Given the description of an element on the screen output the (x, y) to click on. 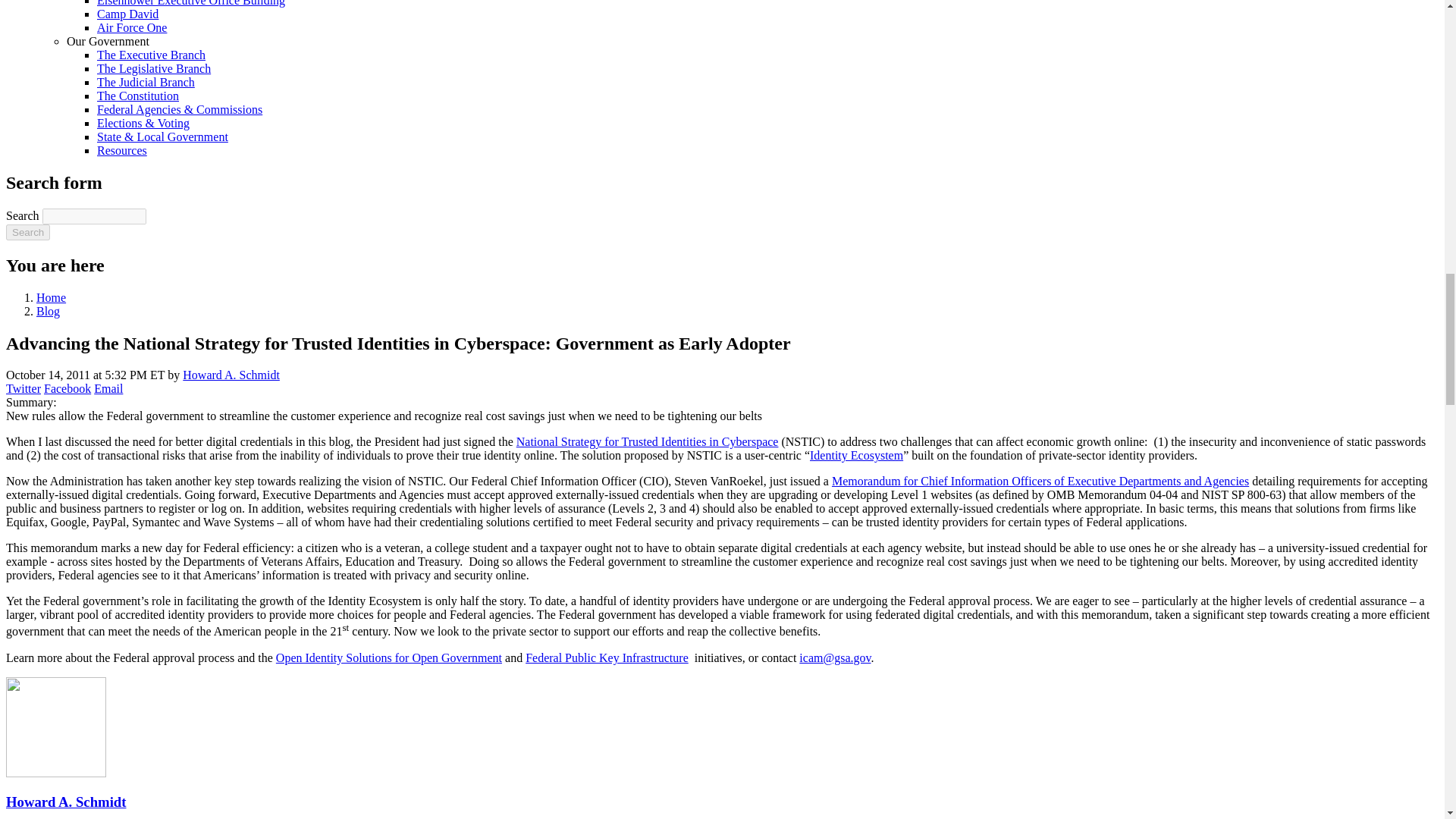
Twitter (22, 388)
Enter the terms you wish to search for. (94, 216)
Email (108, 388)
Search (27, 232)
Facebook (66, 388)
